Given the description of an element on the screen output the (x, y) to click on. 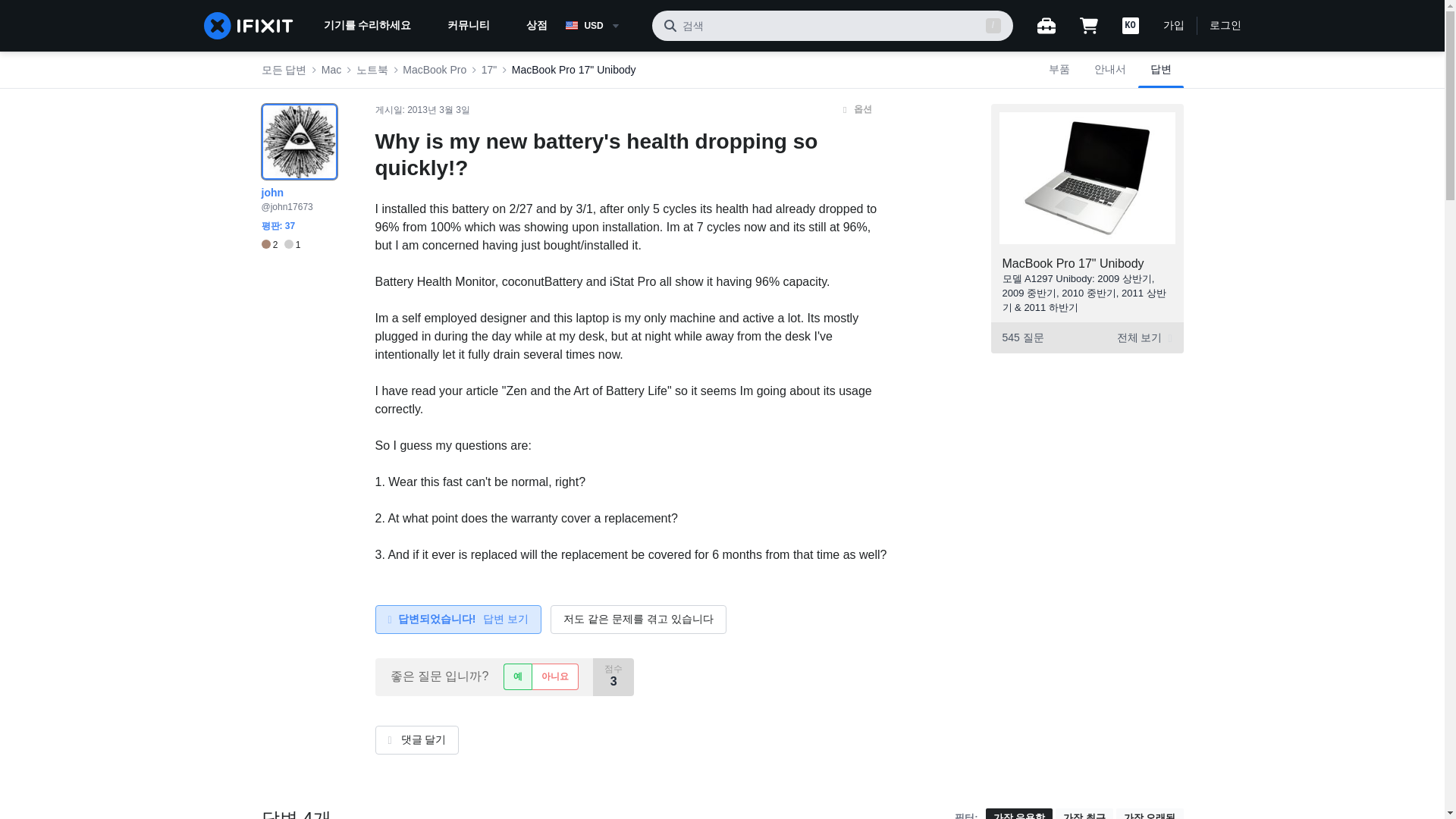
MacBook Pro (434, 69)
2 1 (279, 245)
Mac (330, 69)
MacBook Pro 17" Unibody (1073, 263)
17" (489, 69)
Sun, 03 Mar 2013 01:24:15 -0700 (438, 109)
MacBook Pro 17" Unibody (574, 69)
USD (602, 25)
